Given the description of an element on the screen output the (x, y) to click on. 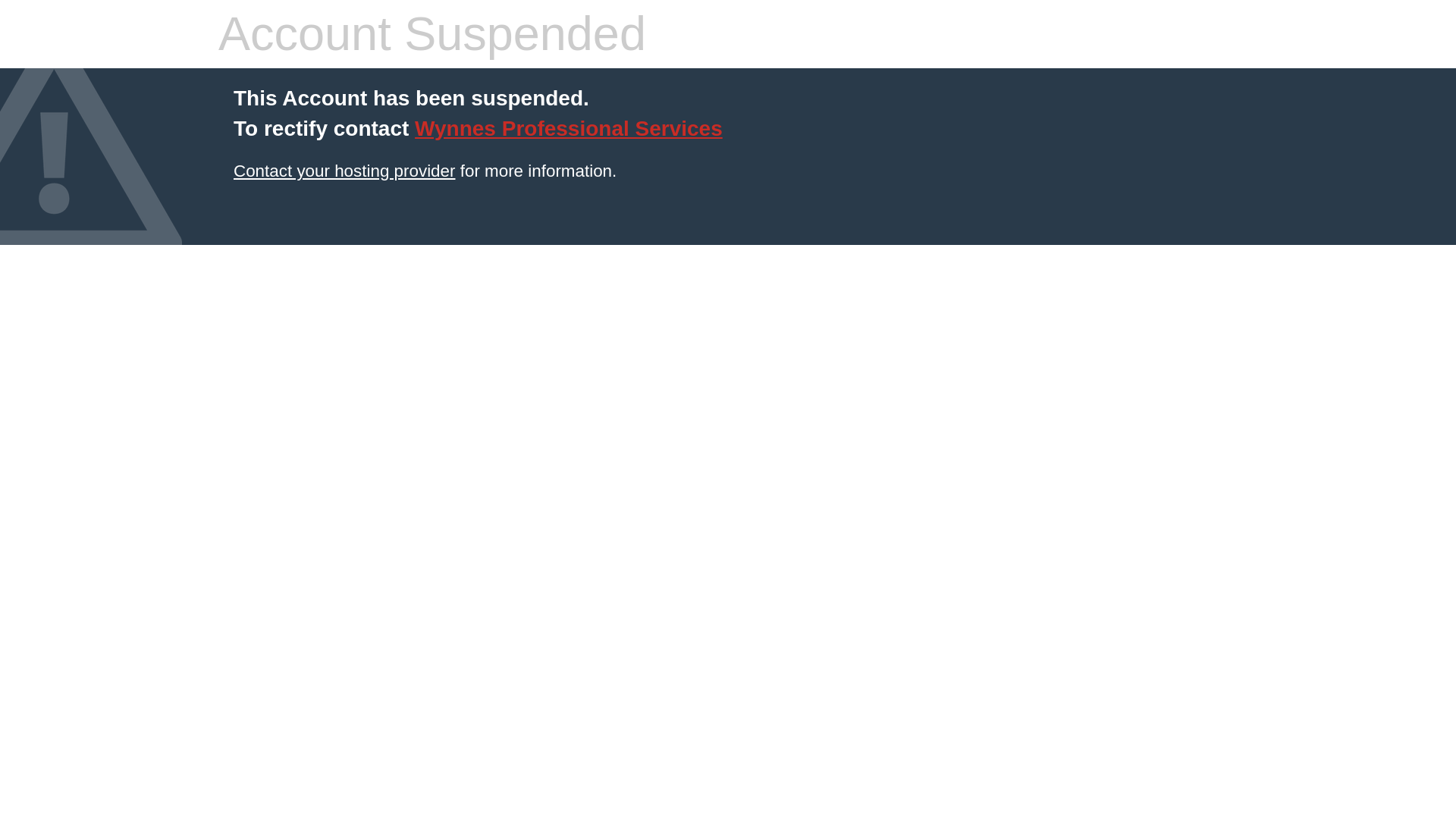
Wynnes Professional Services (568, 128)
Wynnes Professional Services (343, 170)
Wynnes Professional Services (568, 128)
Contact your hosting provider (343, 170)
